Given the description of an element on the screen output the (x, y) to click on. 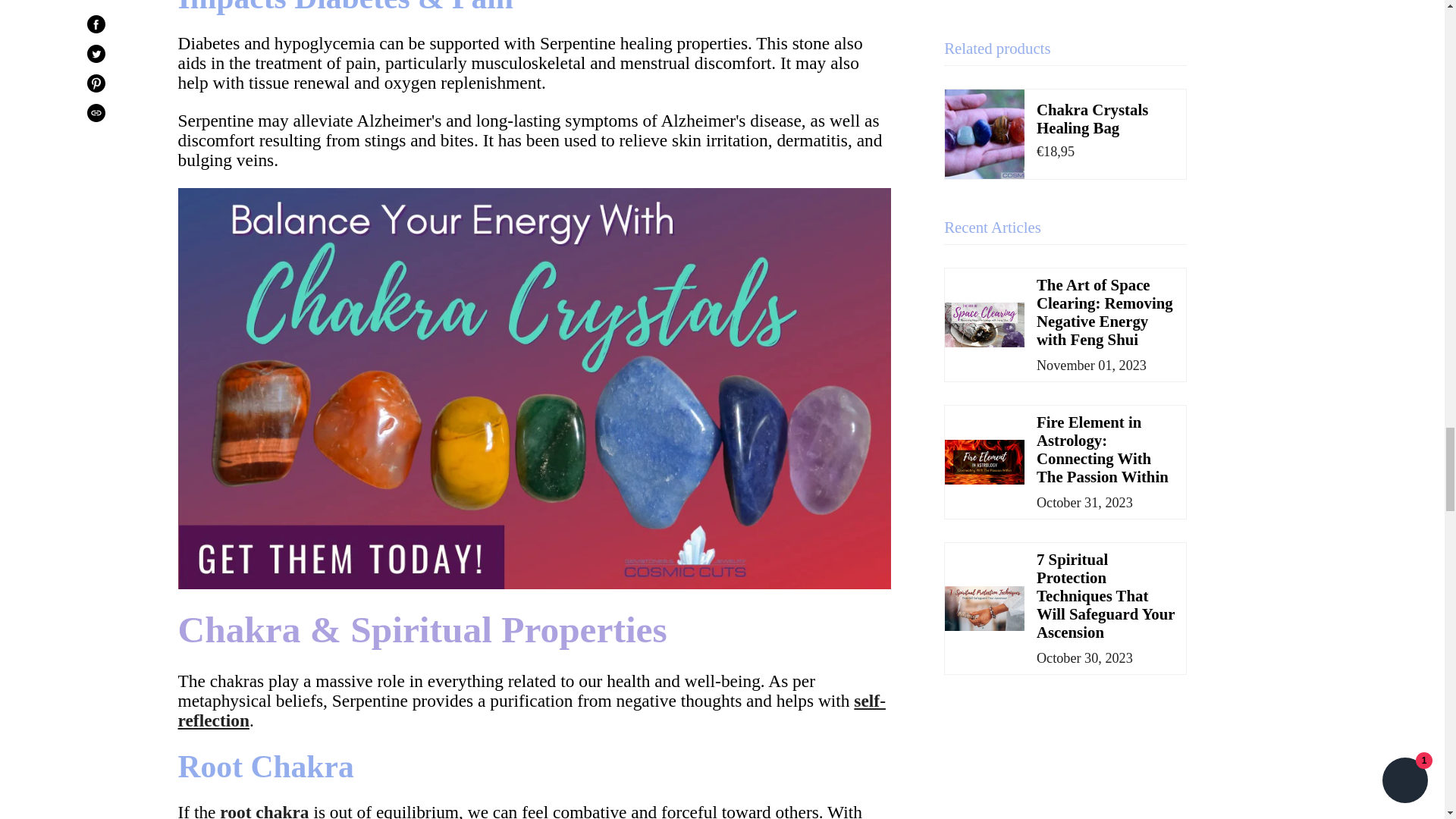
Self-Reflection (531, 710)
root chakra (263, 810)
